Given the description of an element on the screen output the (x, y) to click on. 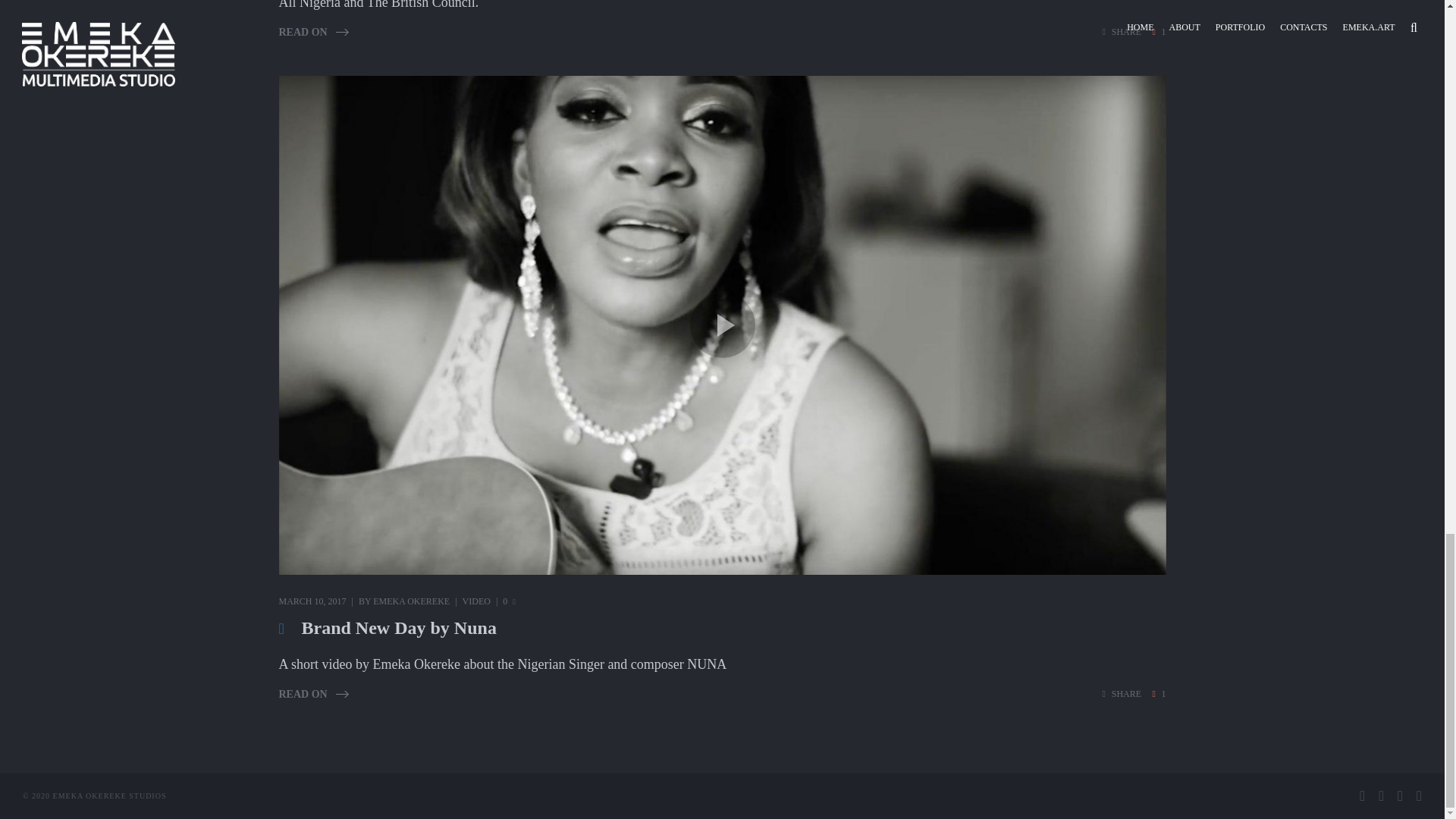
READ ON (314, 31)
Play Video (722, 324)
EMEKA OKEREKE (410, 601)
SHARE (1121, 31)
